Given the description of an element on the screen output the (x, y) to click on. 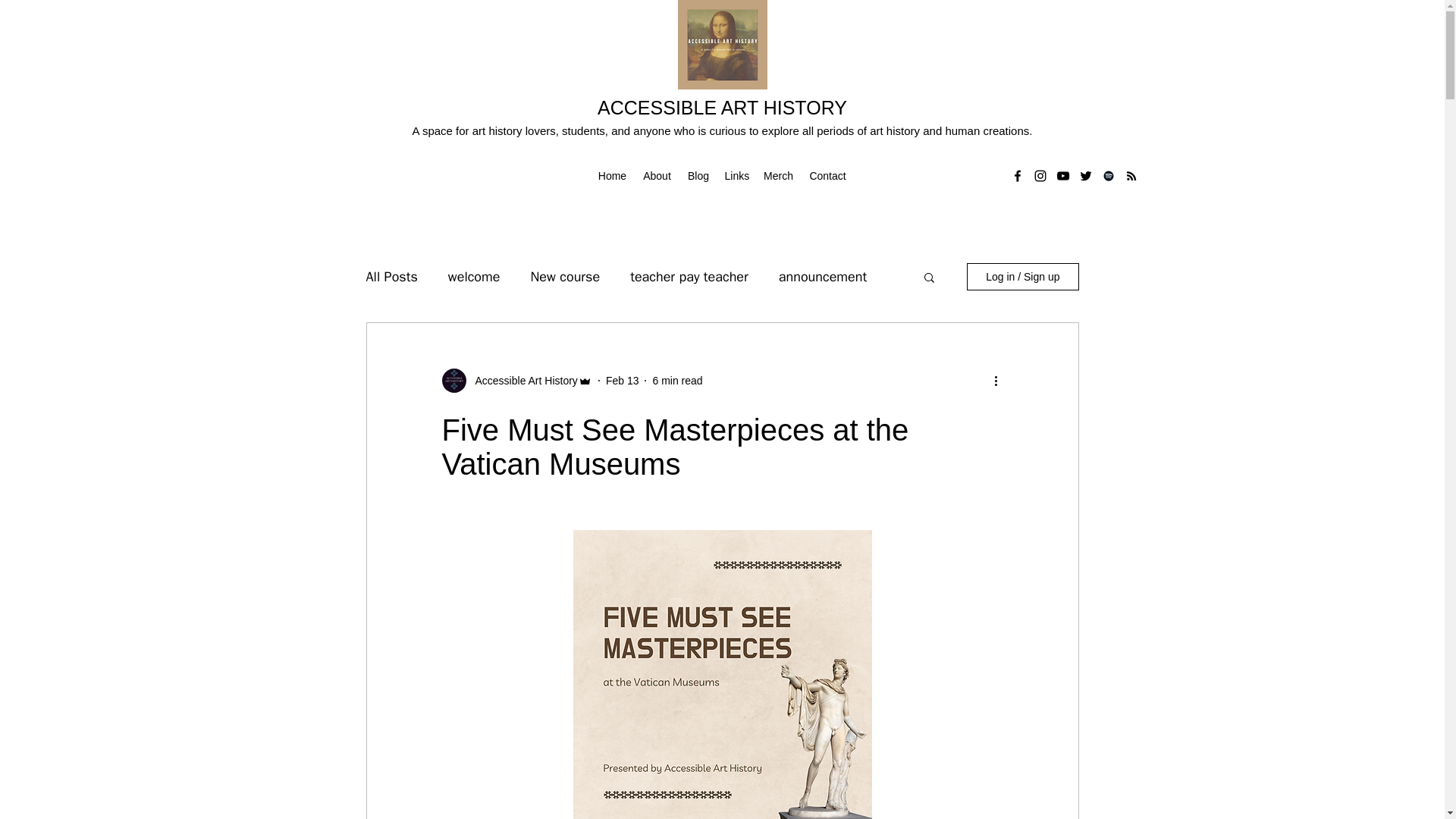
Merch (777, 175)
About (656, 175)
Blog (697, 175)
welcome (474, 276)
teacher pay teacher (689, 276)
Home (611, 175)
Feb 13 (622, 380)
6 min read (676, 380)
Links (736, 175)
ACCESSIBLE ART HISTORY (721, 107)
